Given the description of an element on the screen output the (x, y) to click on. 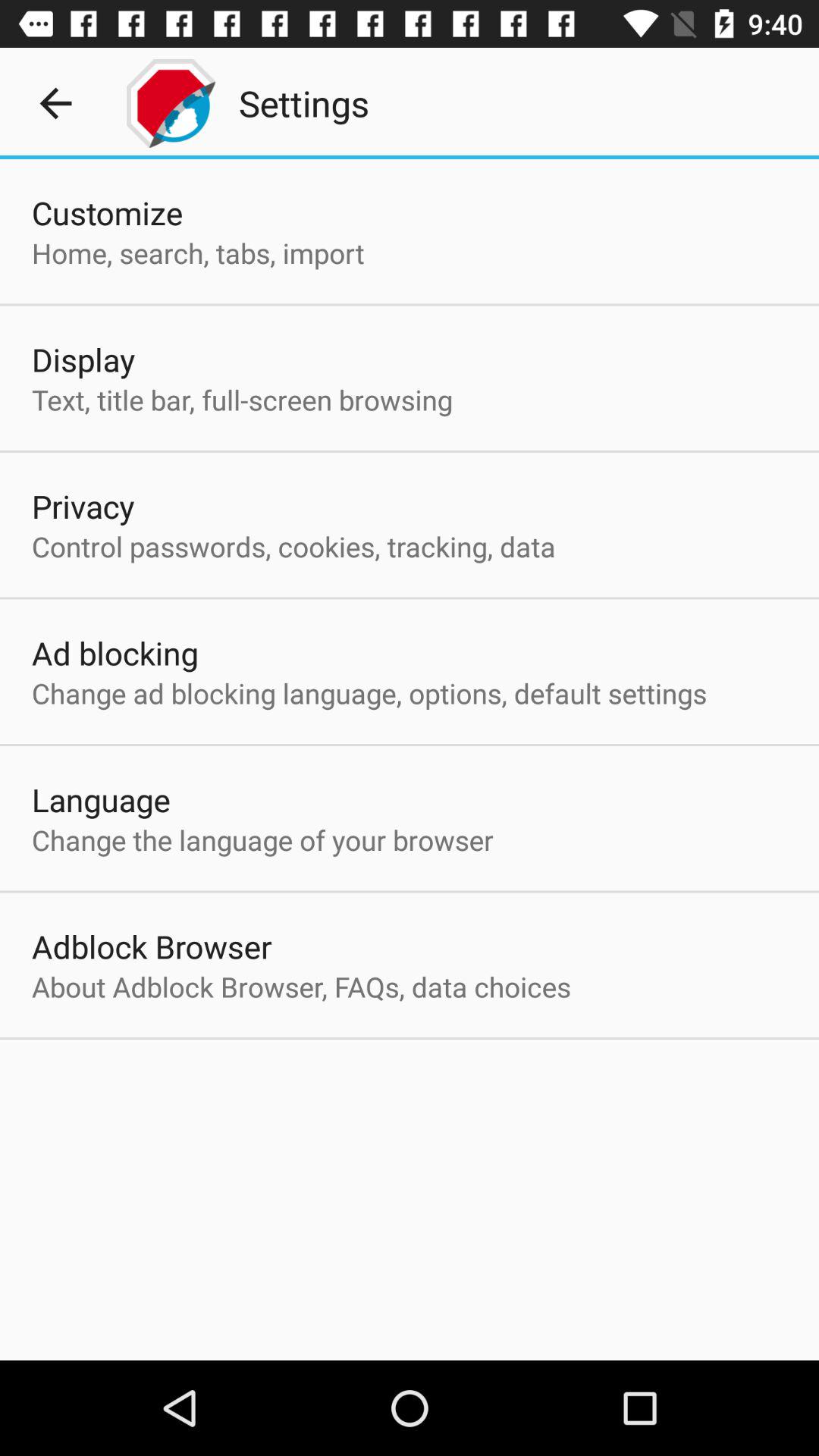
scroll until text title bar item (241, 399)
